Given the description of an element on the screen output the (x, y) to click on. 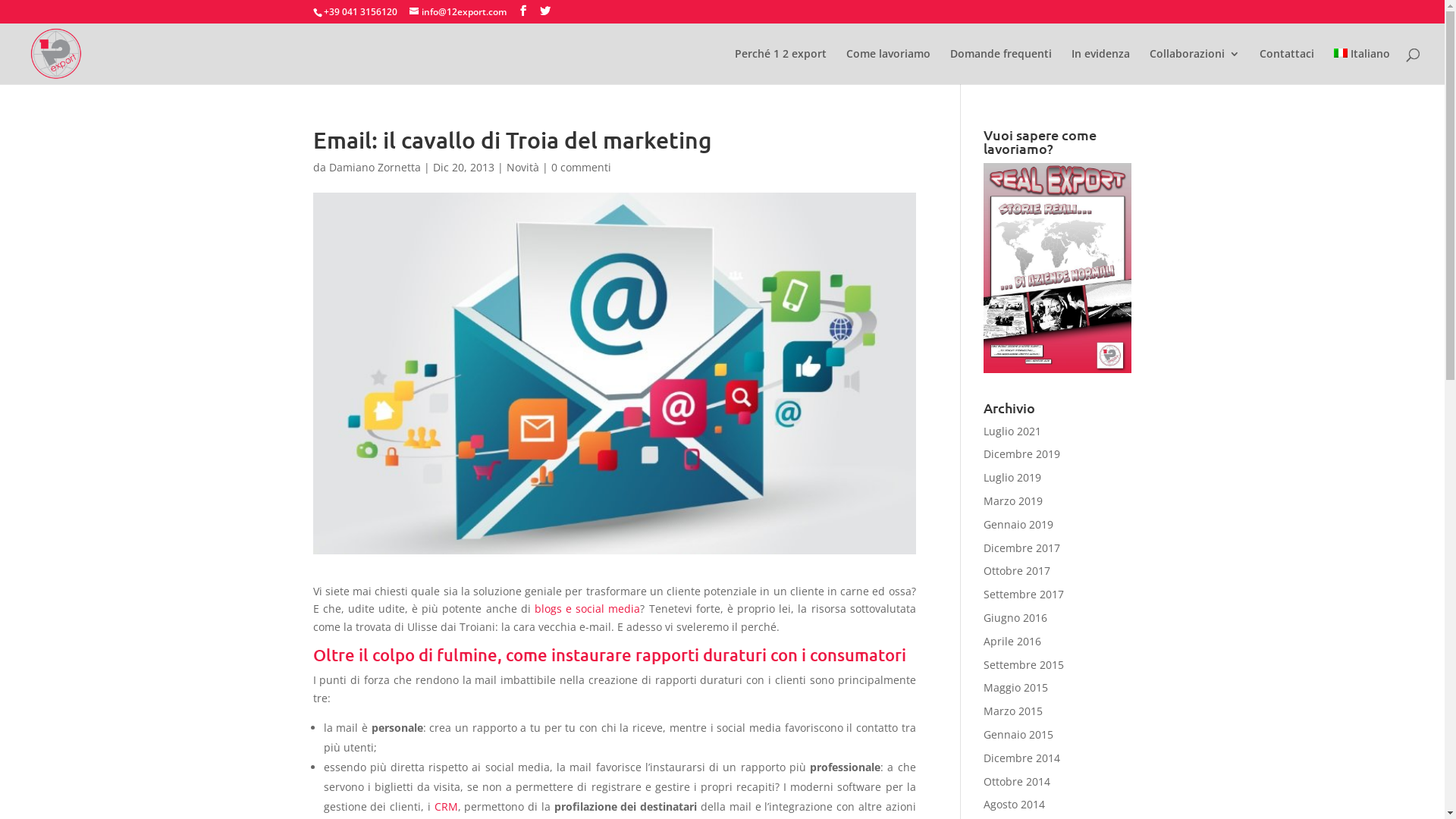
Dicembre 2014 Element type: text (1021, 757)
Ottobre 2014 Element type: text (1016, 781)
Contattaci Element type: text (1286, 66)
Dicembre 2017 Element type: text (1021, 547)
Gennaio 2015 Element type: text (1018, 734)
Marzo 2015 Element type: text (1012, 710)
Damiano Zornetta Element type: text (374, 167)
In evidenza Element type: text (1100, 66)
0 commenti Element type: text (580, 167)
Luglio 2019 Element type: text (1012, 477)
Aprile 2016 Element type: text (1012, 640)
Maggio 2015 Element type: text (1015, 687)
Vuoi sapere come lavoriamo? Element type: hover (1057, 268)
Collaborazioni Element type: text (1194, 66)
Agosto 2014 Element type: text (1013, 804)
Marzo 2019 Element type: text (1012, 500)
Settembre 2017 Element type: text (1023, 593)
Settembre 2015 Element type: text (1023, 664)
Gennaio 2019 Element type: text (1018, 524)
Ottobre 2017 Element type: text (1016, 570)
Luglio 2021 Element type: text (1012, 430)
Italiano Element type: text (1361, 66)
info@12export.com Element type: text (457, 11)
CRM Element type: text (446, 806)
blogs e social media Element type: text (587, 608)
Domande frequenti Element type: text (1000, 66)
Dicembre 2019 Element type: text (1021, 453)
Giugno 2016 Element type: text (1015, 617)
Come lavoriamo Element type: text (888, 66)
